Given the description of an element on the screen output the (x, y) to click on. 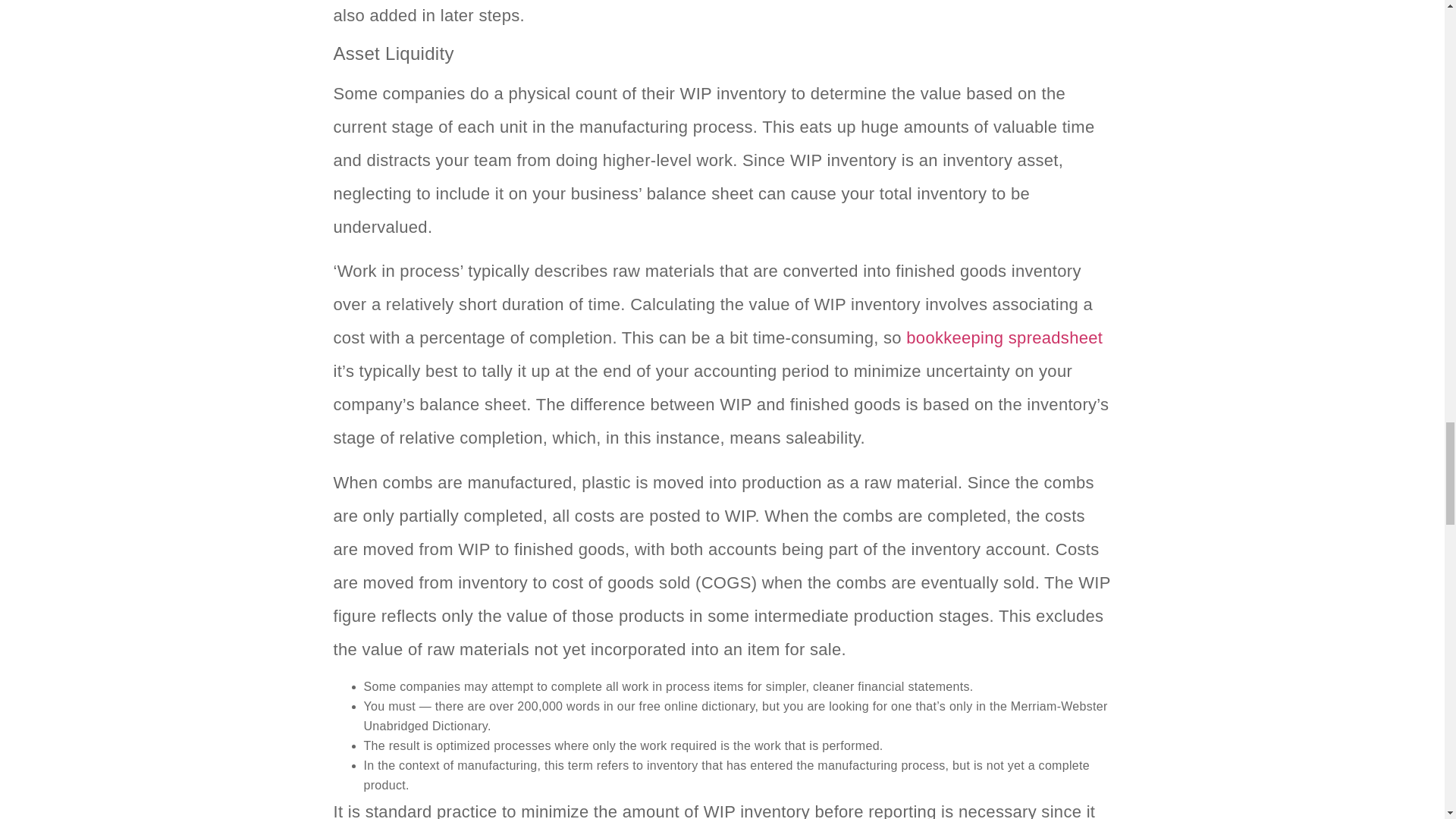
bookkeeping spreadsheet (1003, 337)
